Given the description of an element on the screen output the (x, y) to click on. 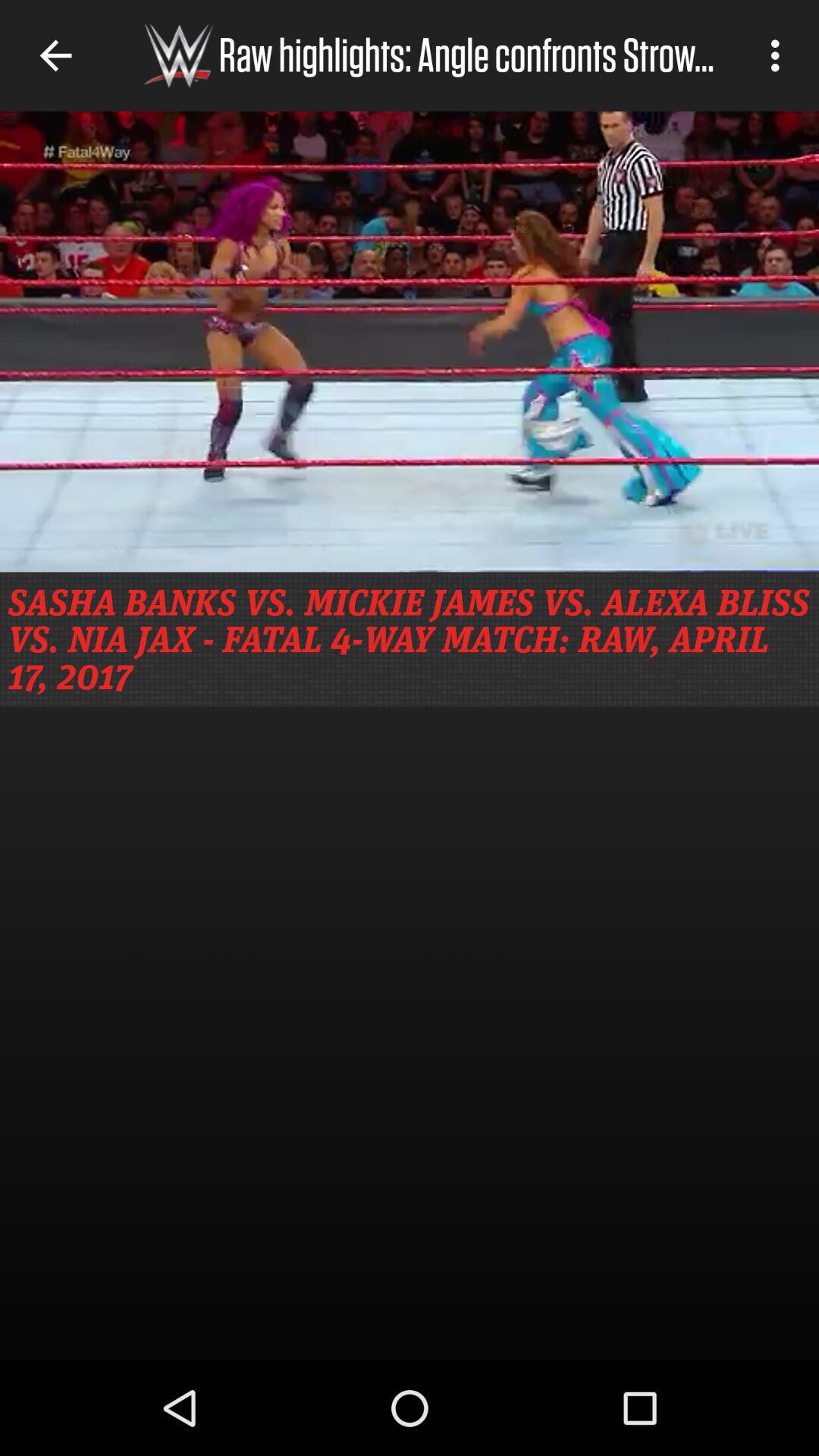
tap item above the sasha banks vs icon (409, 341)
